Given the description of an element on the screen output the (x, y) to click on. 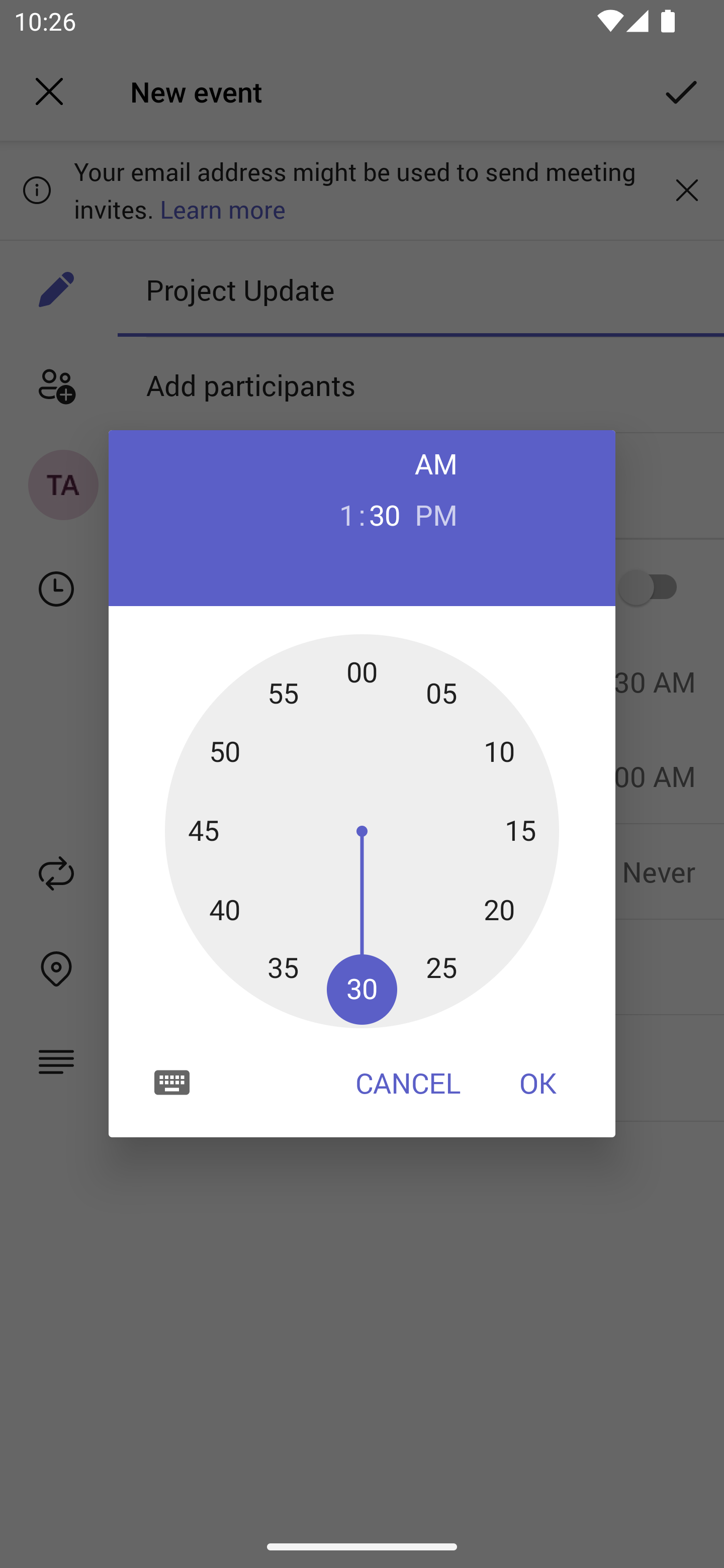
AM (435, 463)
PM (435, 514)
1 (338, 514)
30 (384, 514)
CANCEL (407, 1082)
OK (537, 1082)
Switch to text input mode for the time input. (171, 1081)
